Given the description of an element on the screen output the (x, y) to click on. 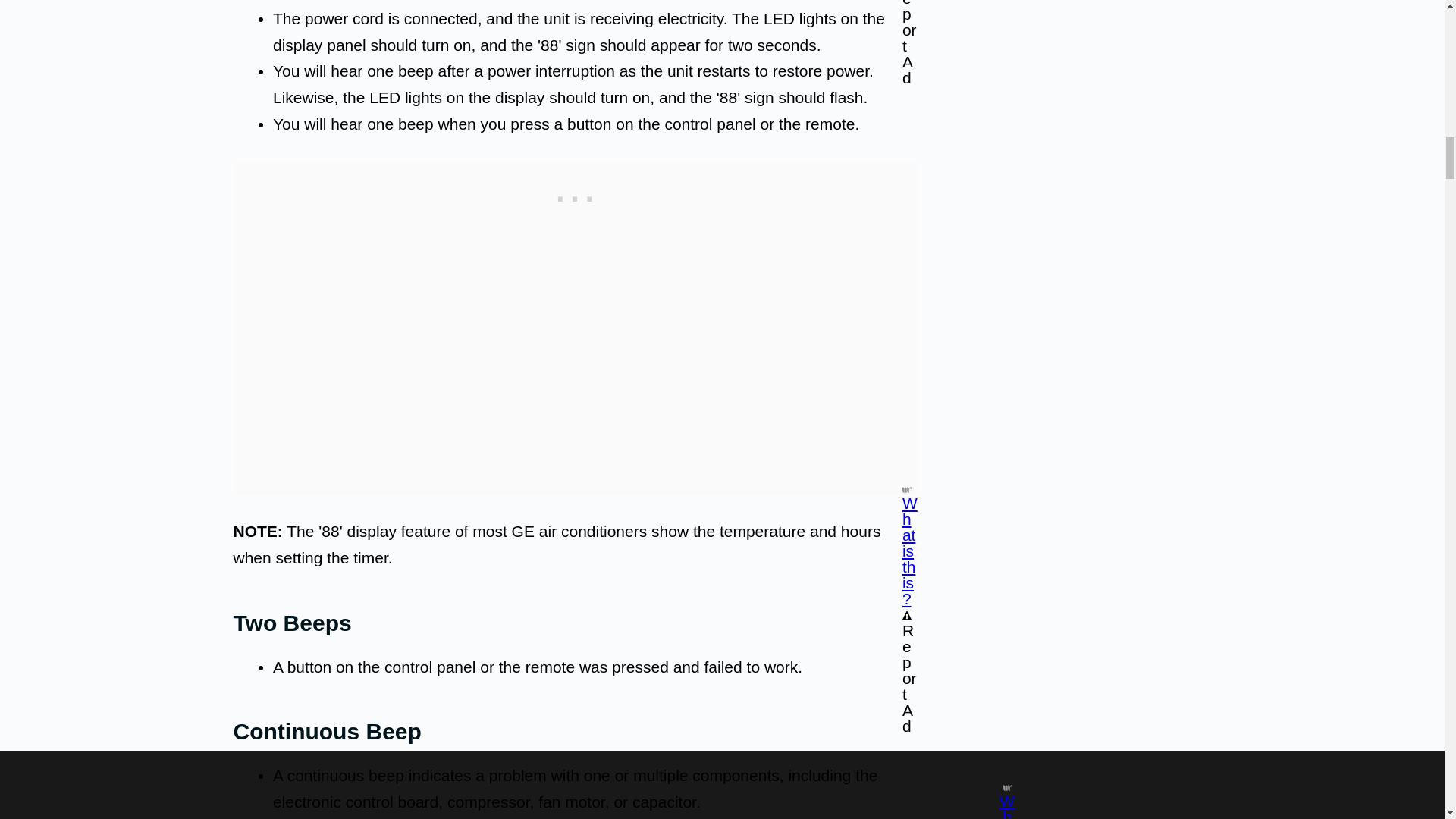
3rd party ad content (575, 195)
